Given the description of an element on the screen output the (x, y) to click on. 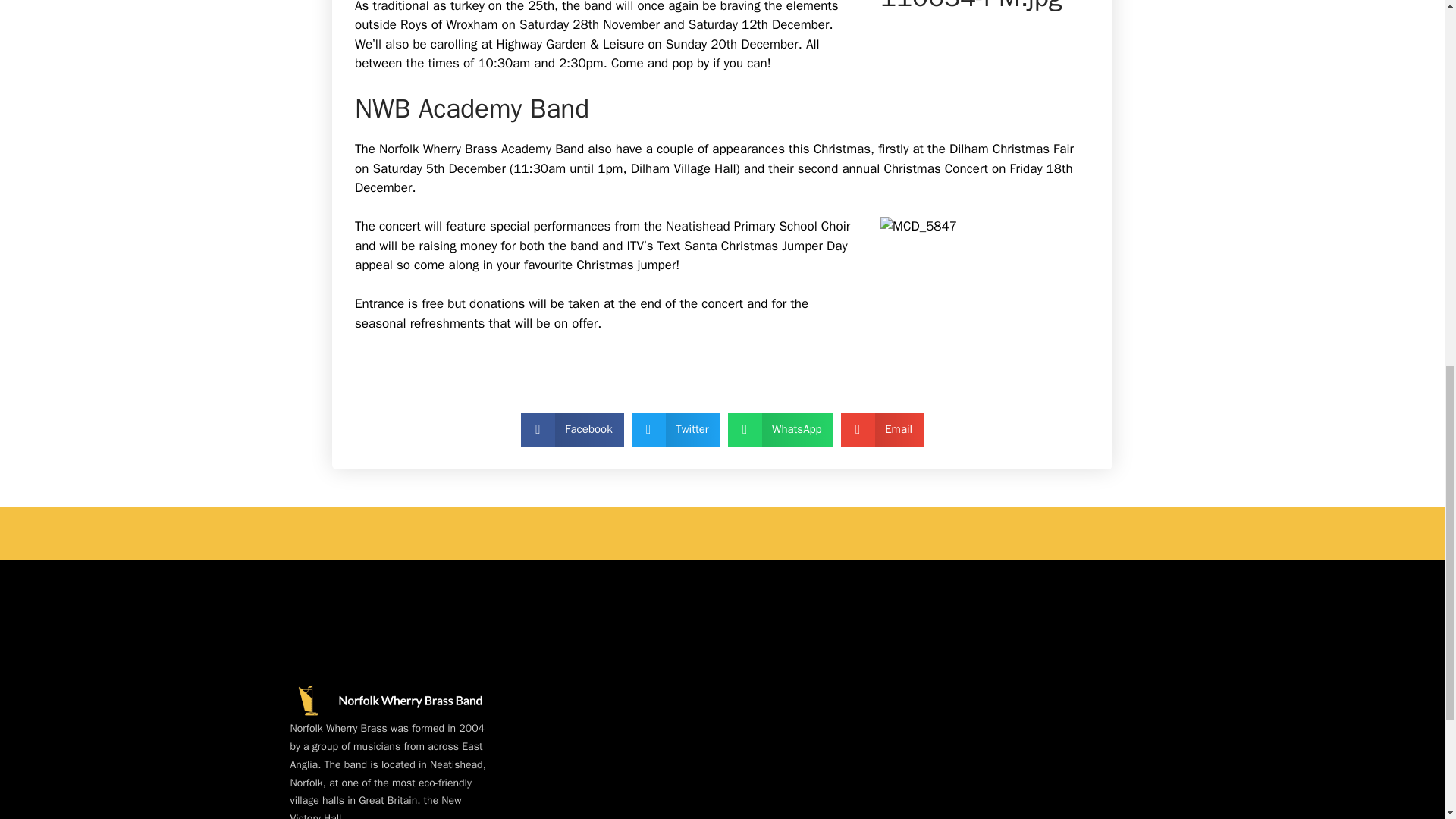
New Victory Hall, Street Hill, Neatishead, Norfolk, NR12 8AD (851, 714)
Scroll back to top (1406, 720)
